Given the description of an element on the screen output the (x, y) to click on. 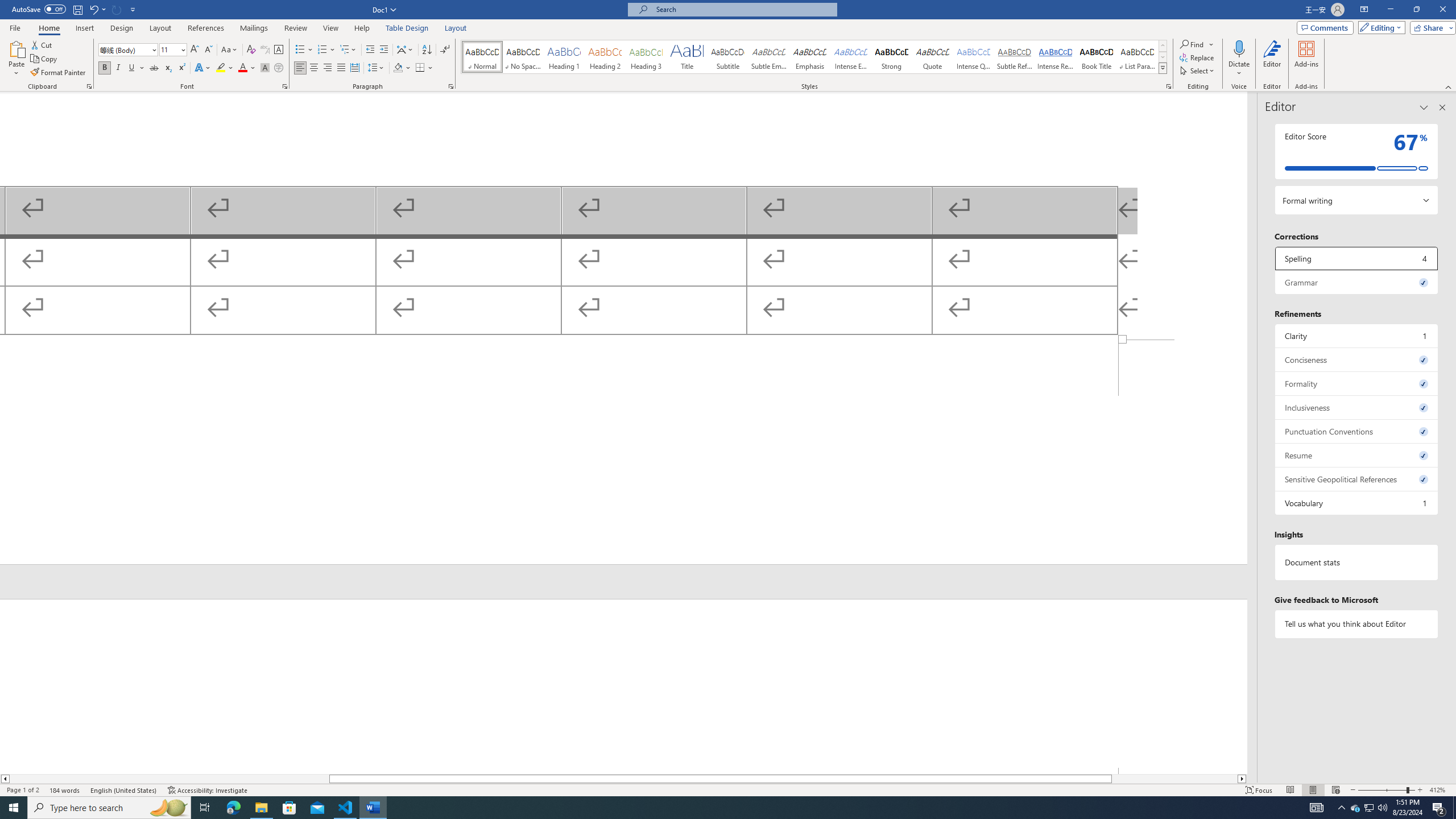
Editor Score 67% (1356, 151)
Italic (118, 67)
Replace... (1197, 56)
Open (182, 49)
Resume, 0 issues. Press space or enter to review items. (1356, 454)
Select (1197, 69)
Heading 2 (605, 56)
Text Highlight Color Yellow (220, 67)
